Given the description of an element on the screen output the (x, y) to click on. 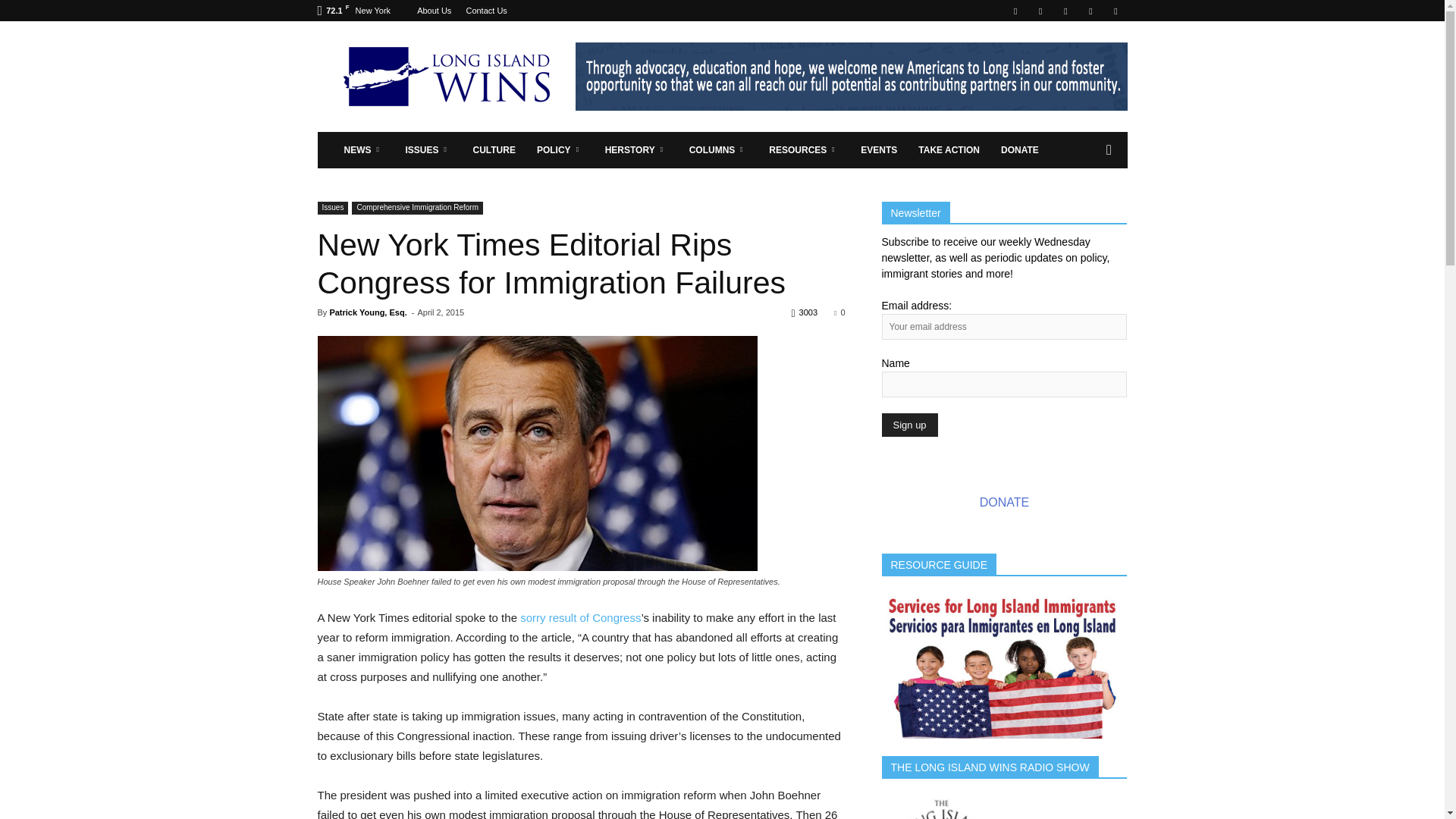
Twitter (1090, 10)
Instagram (1040, 10)
Youtube (1114, 10)
Soundcloud (1065, 10)
Facebook (1015, 10)
boehner1 (537, 452)
Sign up (908, 424)
